Given the description of an element on the screen output the (x, y) to click on. 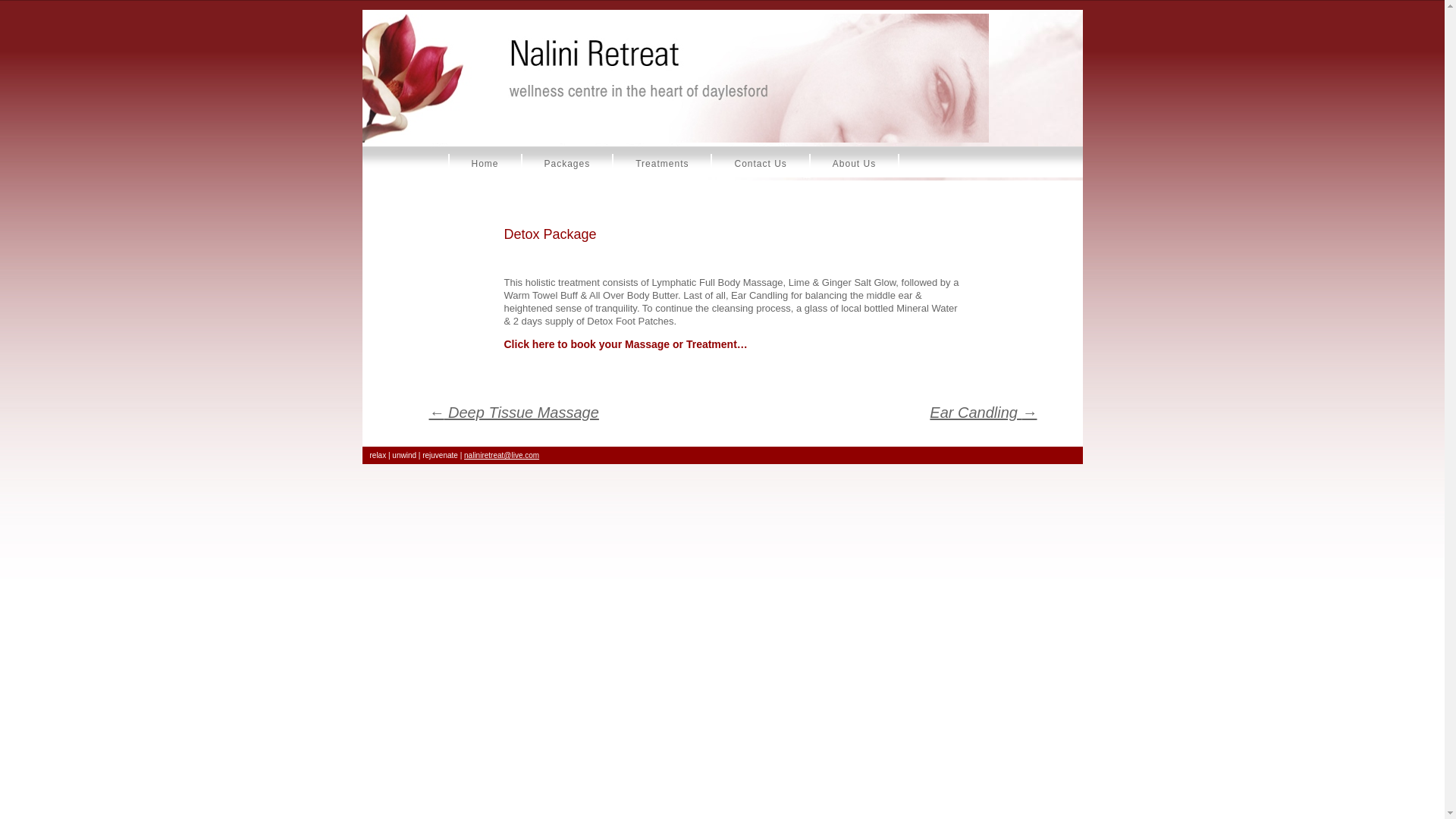
About Us Element type: text (854, 161)
naliniretreat@live.com Element type: text (501, 455)
Packages Element type: text (568, 161)
Contact Us Element type: text (760, 161)
Treatments Element type: text (662, 161)
Home Element type: text (484, 161)
